Given the description of an element on the screen output the (x, y) to click on. 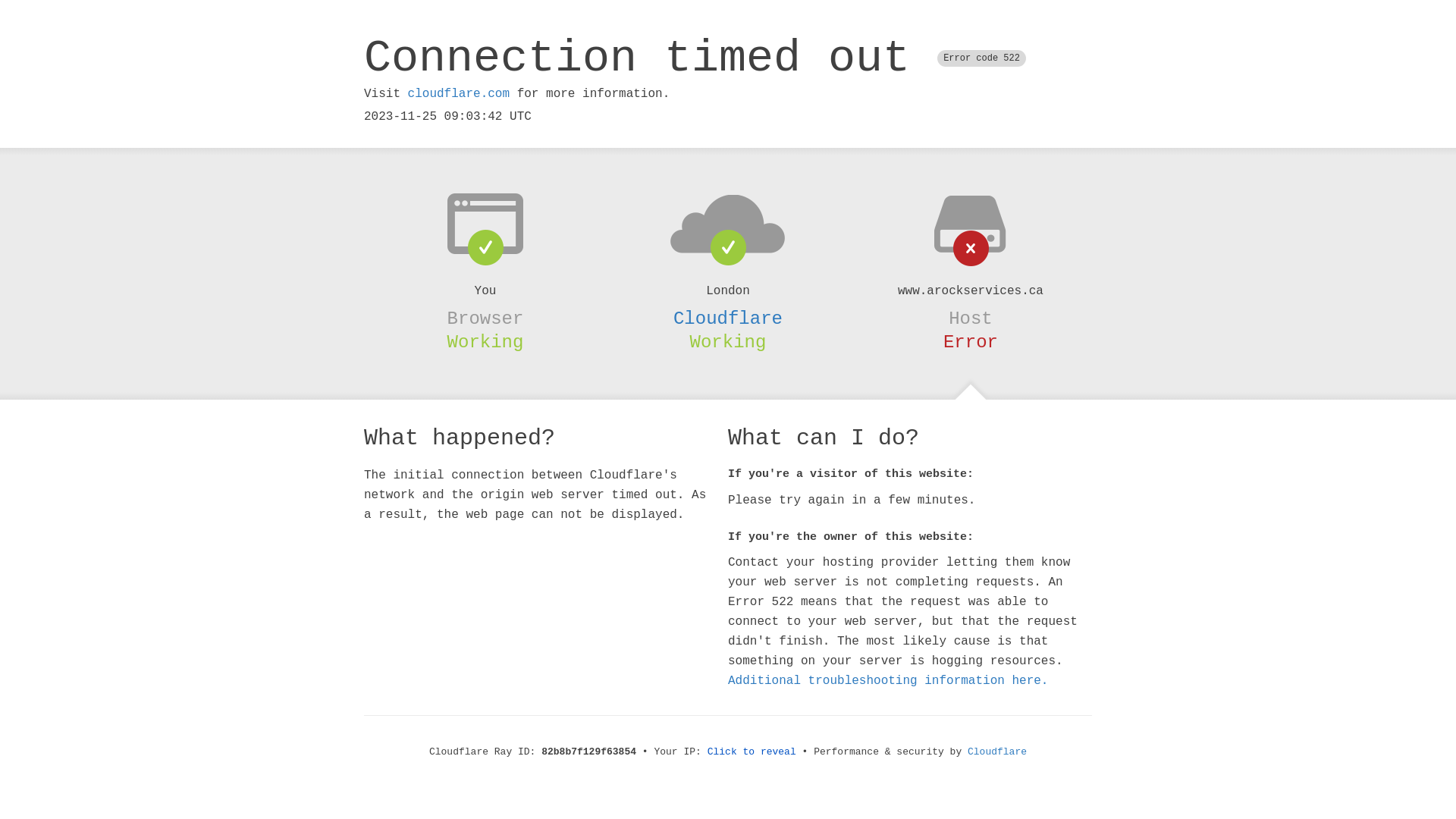
Cloudflare Element type: text (996, 751)
Cloudflare Element type: text (727, 318)
cloudflare.com Element type: text (458, 93)
Click to reveal Element type: text (751, 751)
Additional troubleshooting information here. Element type: text (888, 680)
